Given the description of an element on the screen output the (x, y) to click on. 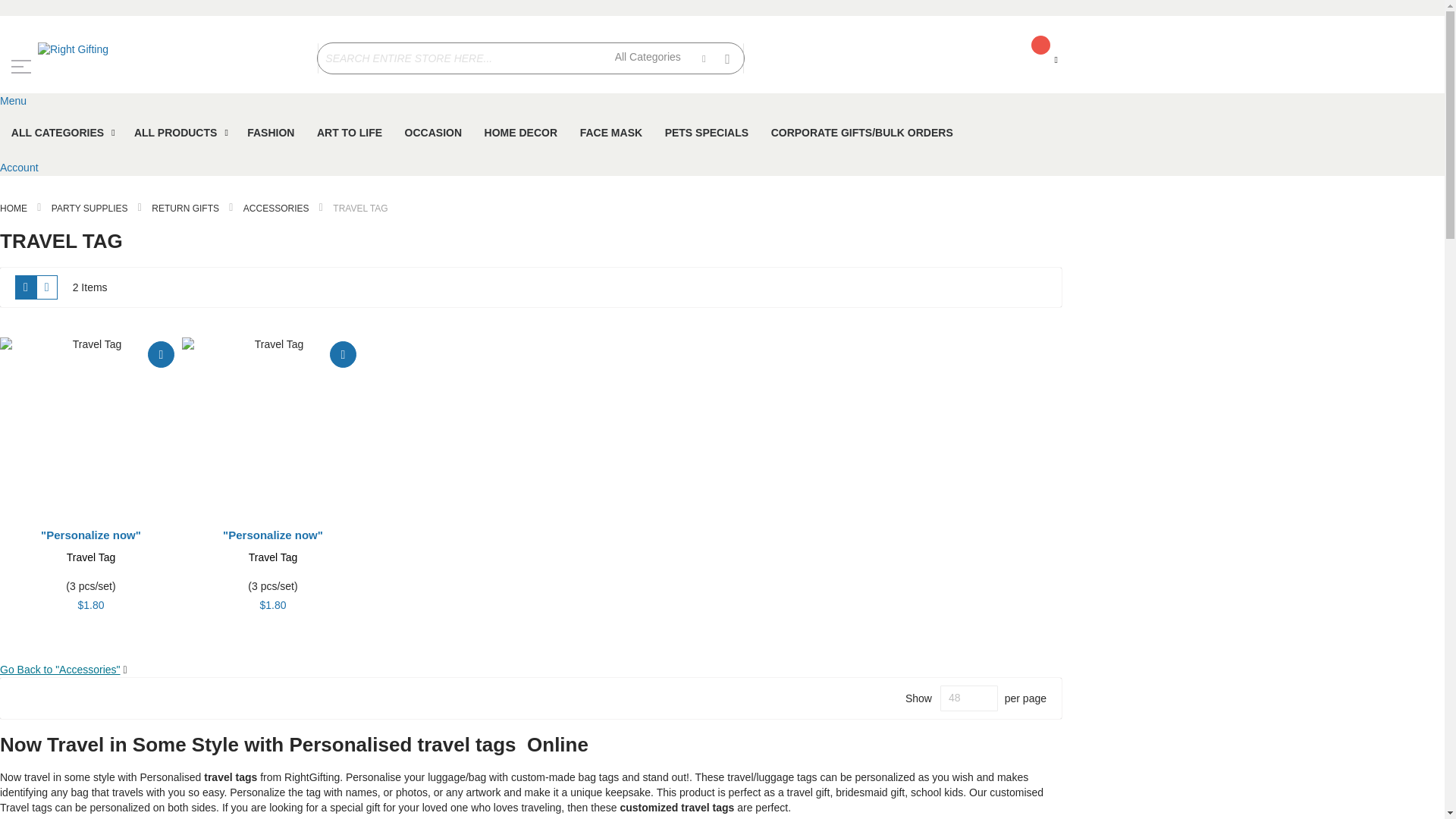
Right Gifting (150, 49)
All Categories (660, 57)
Go to Home Page (14, 208)
Search (727, 56)
